Given the description of an element on the screen output the (x, y) to click on. 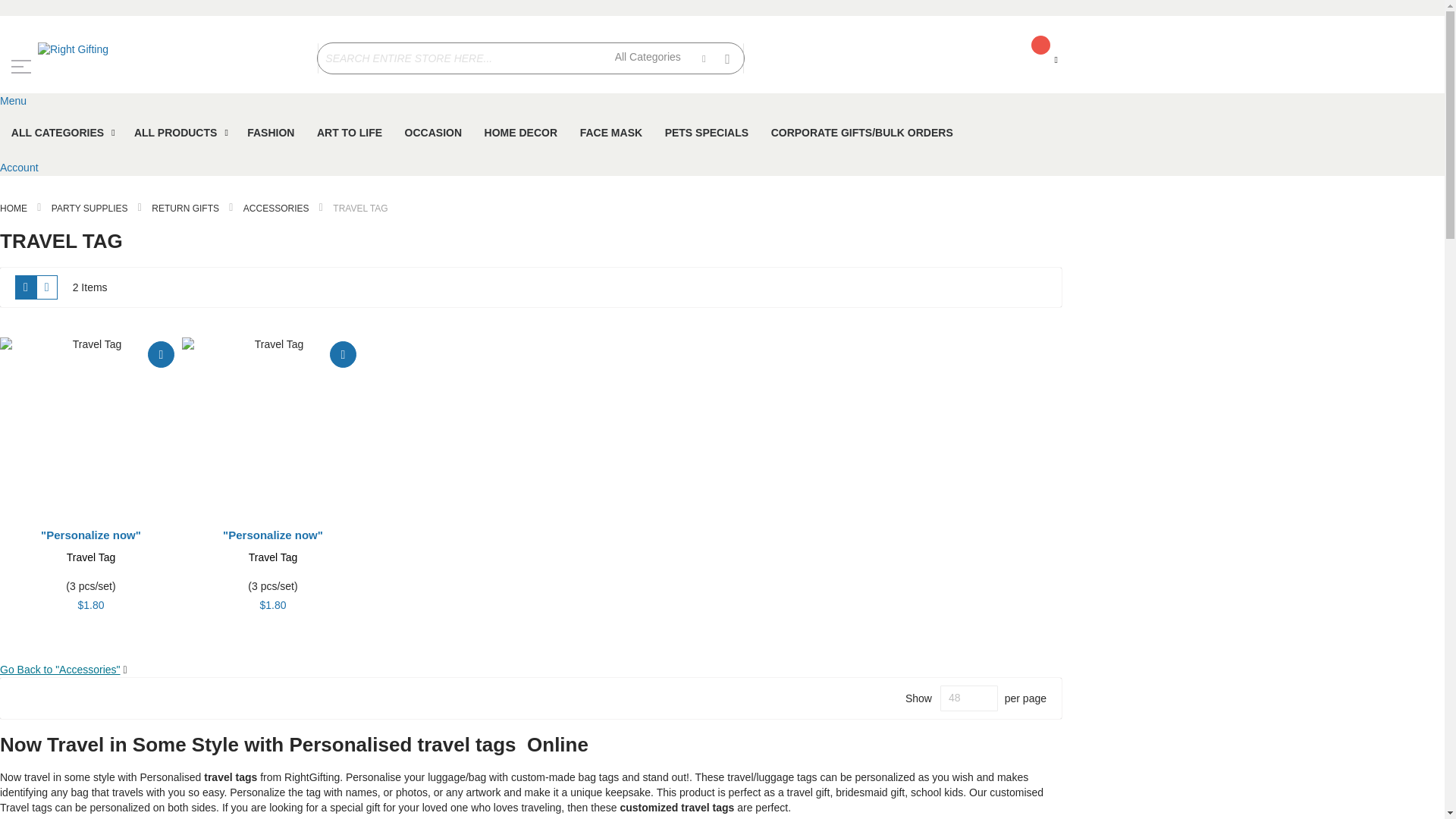
Right Gifting (150, 49)
All Categories (660, 57)
Go to Home Page (14, 208)
Search (727, 56)
